Given the description of an element on the screen output the (x, y) to click on. 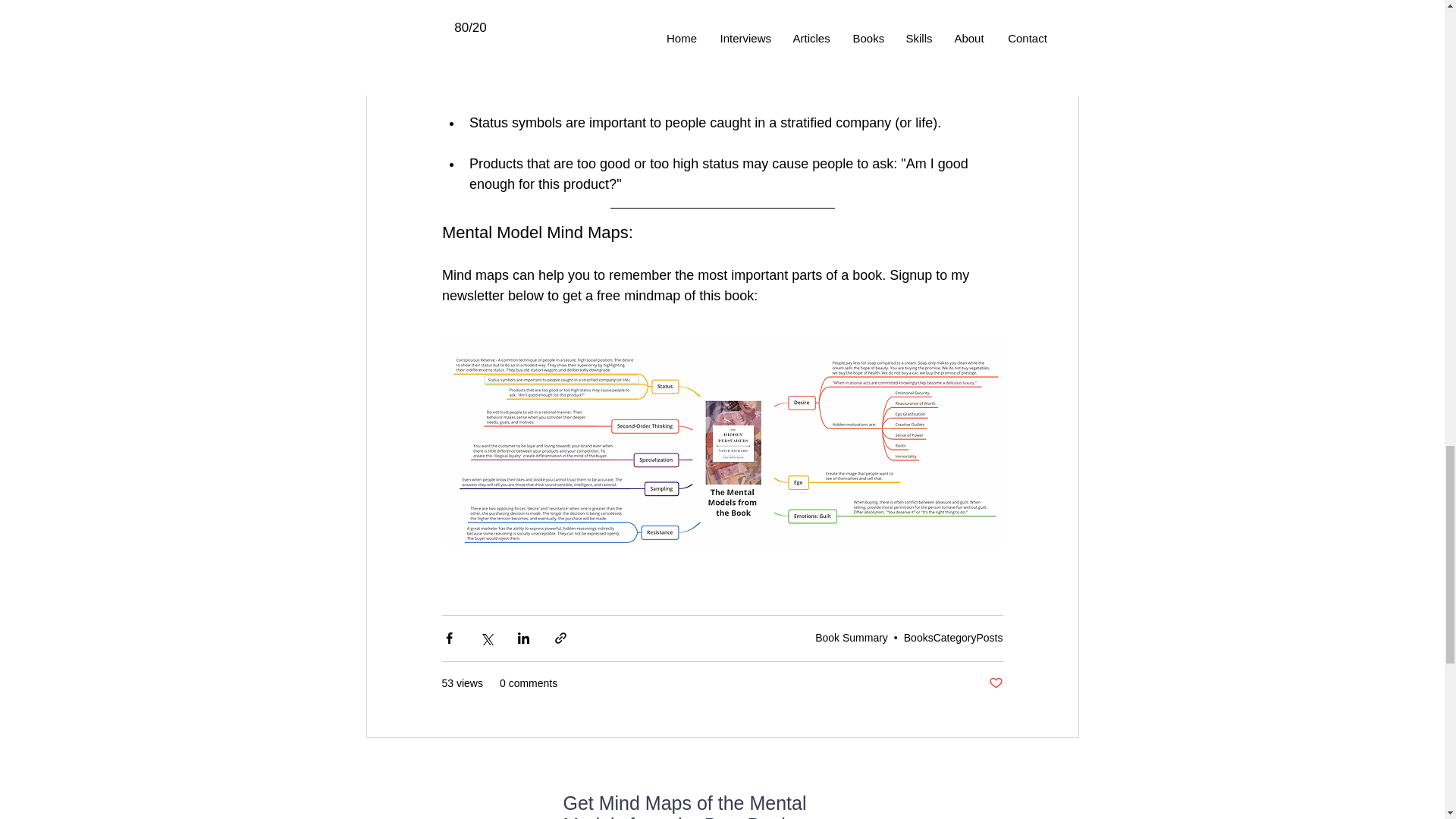
Post not marked as liked (995, 683)
BooksCategoryPosts (953, 637)
Book Summary (851, 637)
